Given the description of an element on the screen output the (x, y) to click on. 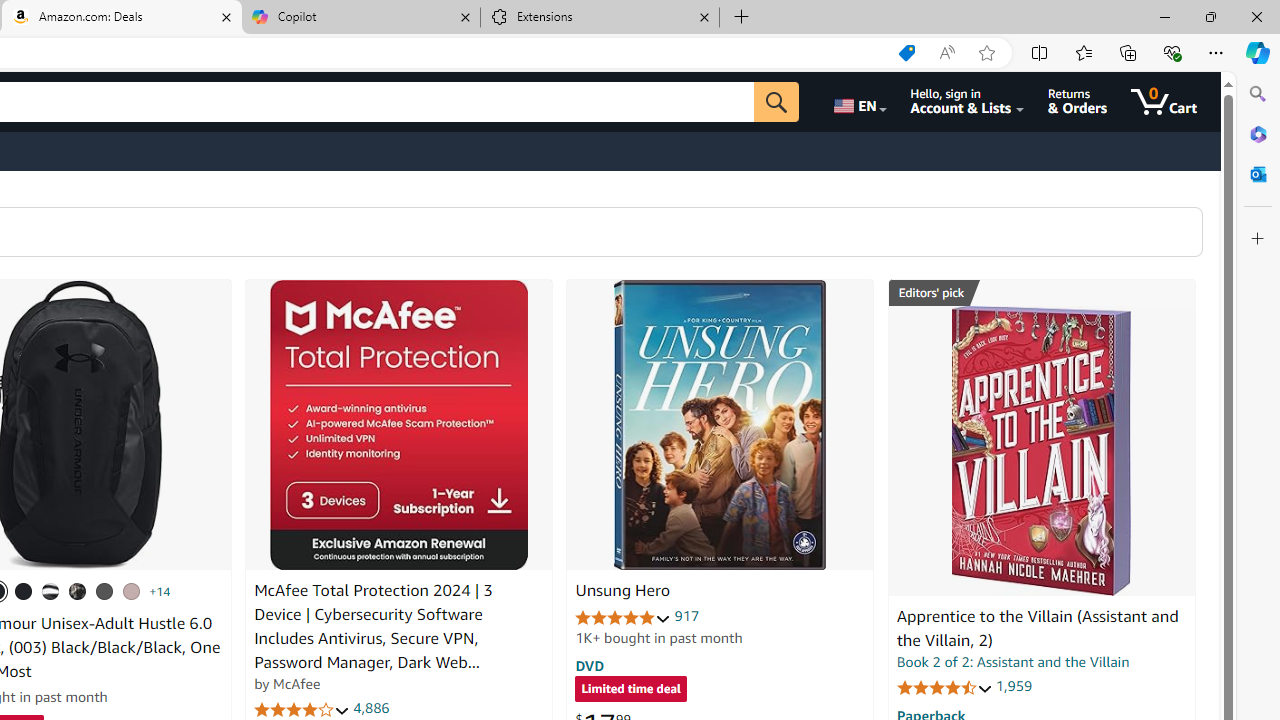
Choose a language for shopping. (858, 101)
Returns & Orders (1077, 101)
Copilot (360, 17)
917 (687, 616)
0 items in cart (1163, 101)
Go (776, 101)
4.9 out of 5 stars (623, 616)
(005) Black Full Heather / Black / Metallic Gold (104, 591)
4,886 (371, 708)
Unsung Hero (720, 425)
